Given the description of an element on the screen output the (x, y) to click on. 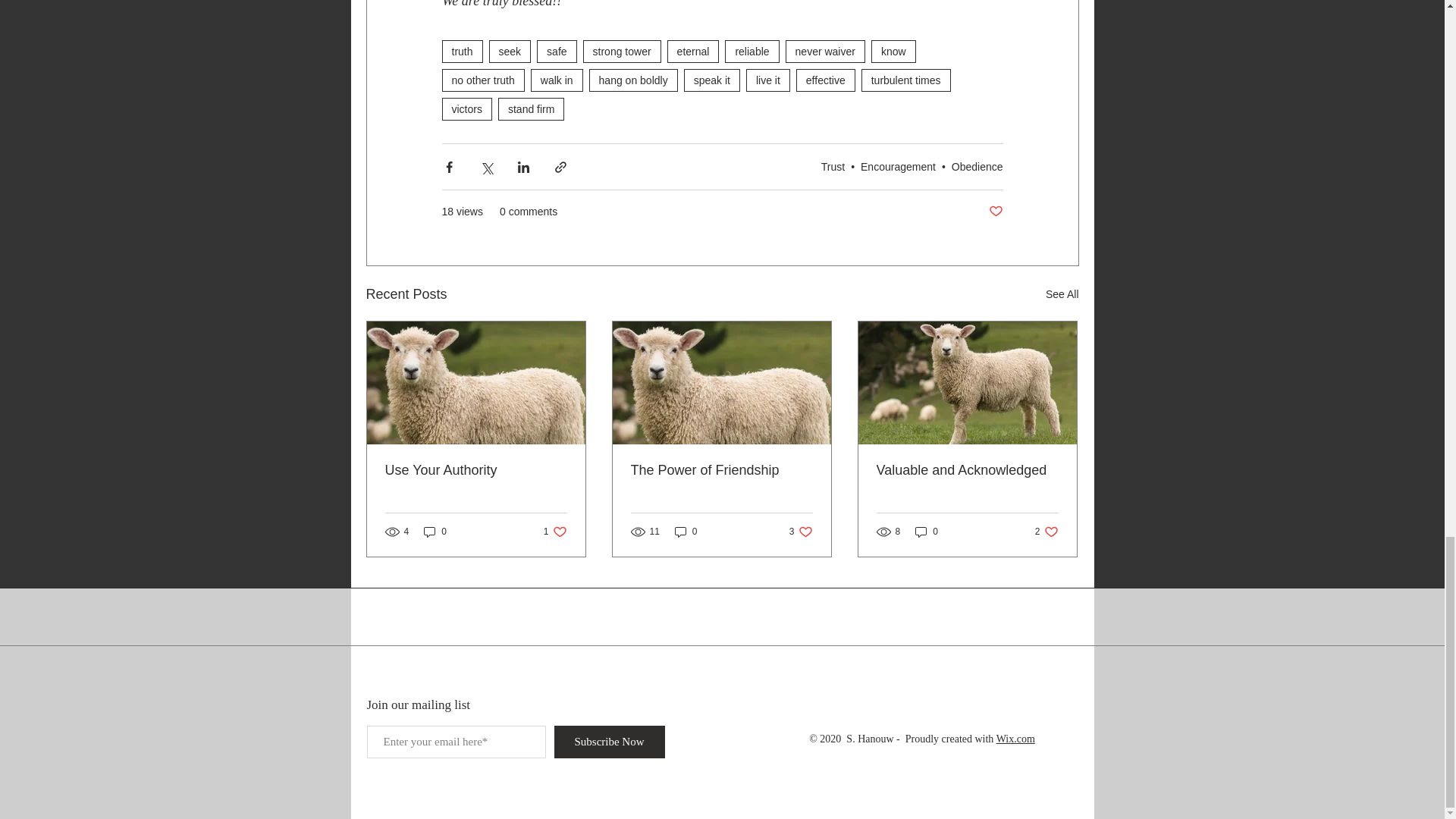
truth (461, 51)
safe (556, 51)
seek (510, 51)
